Given the description of an element on the screen output the (x, y) to click on. 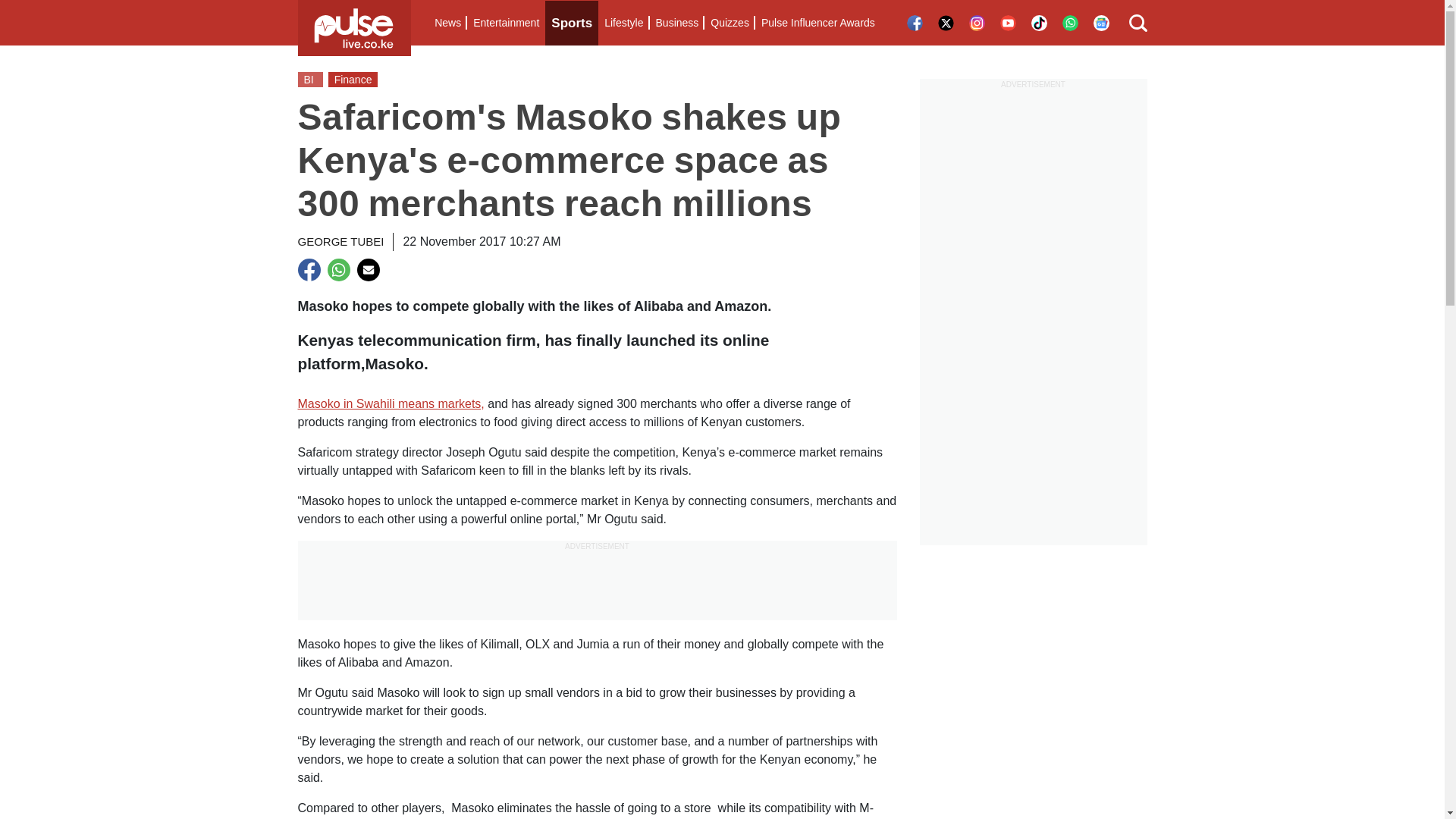
Sports (571, 22)
Business (676, 22)
Pulse Influencer Awards (817, 22)
Lifestyle (623, 22)
Quizzes (729, 22)
Entertainment (505, 22)
